Given the description of an element on the screen output the (x, y) to click on. 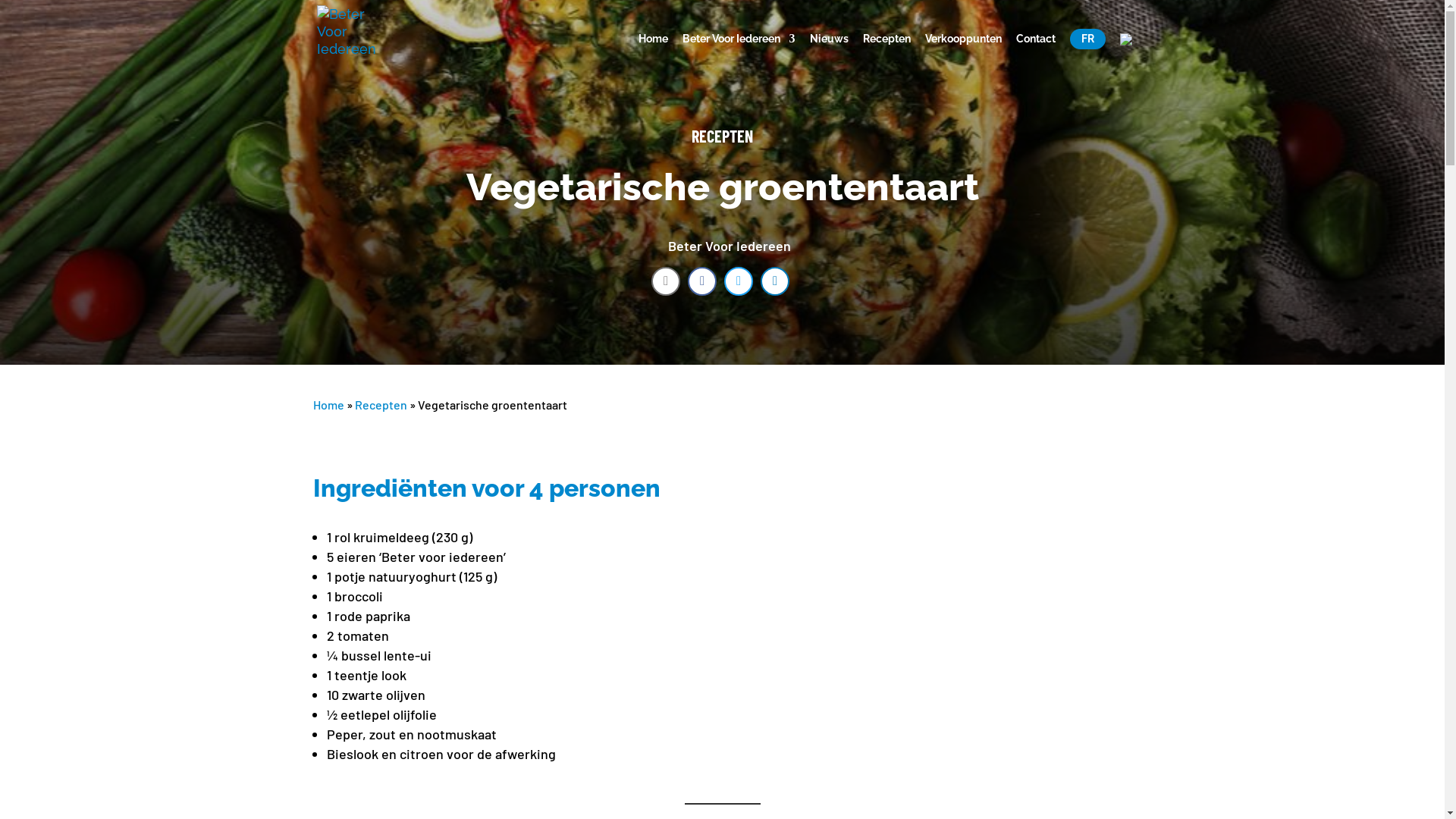
Nieuws Element type: text (828, 52)
Verkooppunten Element type: text (963, 52)
Home Element type: text (653, 52)
Recepten Element type: text (886, 52)
Beter Voor Iedereen Element type: text (738, 52)
Recepten Element type: text (380, 404)
Contact Element type: text (1035, 52)
FR Element type: text (1086, 38)
Home Element type: text (327, 404)
RECEPTEN Element type: text (722, 135)
